Given the description of an element on the screen output the (x, y) to click on. 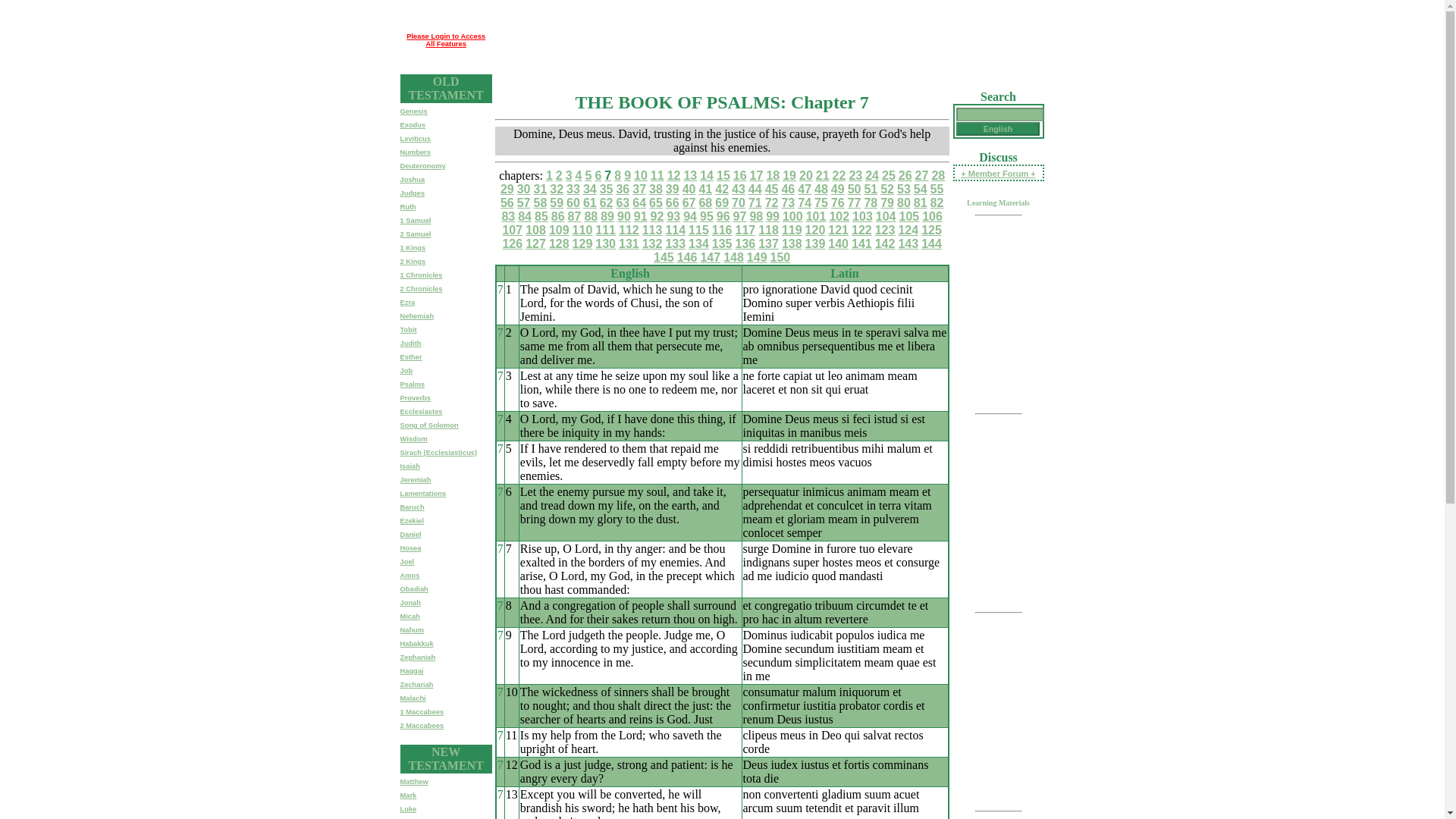
Baruch (412, 507)
Ezekiel (412, 520)
Jonah (410, 602)
2 Samuel (415, 234)
Esther (411, 356)
1 Samuel (415, 220)
Leviticus (415, 138)
Amos (410, 575)
Psalms (412, 384)
Ecclesiastes (421, 411)
2 Chronicles (421, 288)
1 Chronicles (421, 275)
Wisdom (414, 438)
Daniel (411, 534)
Isaiah (410, 466)
